Given the description of an element on the screen output the (x, y) to click on. 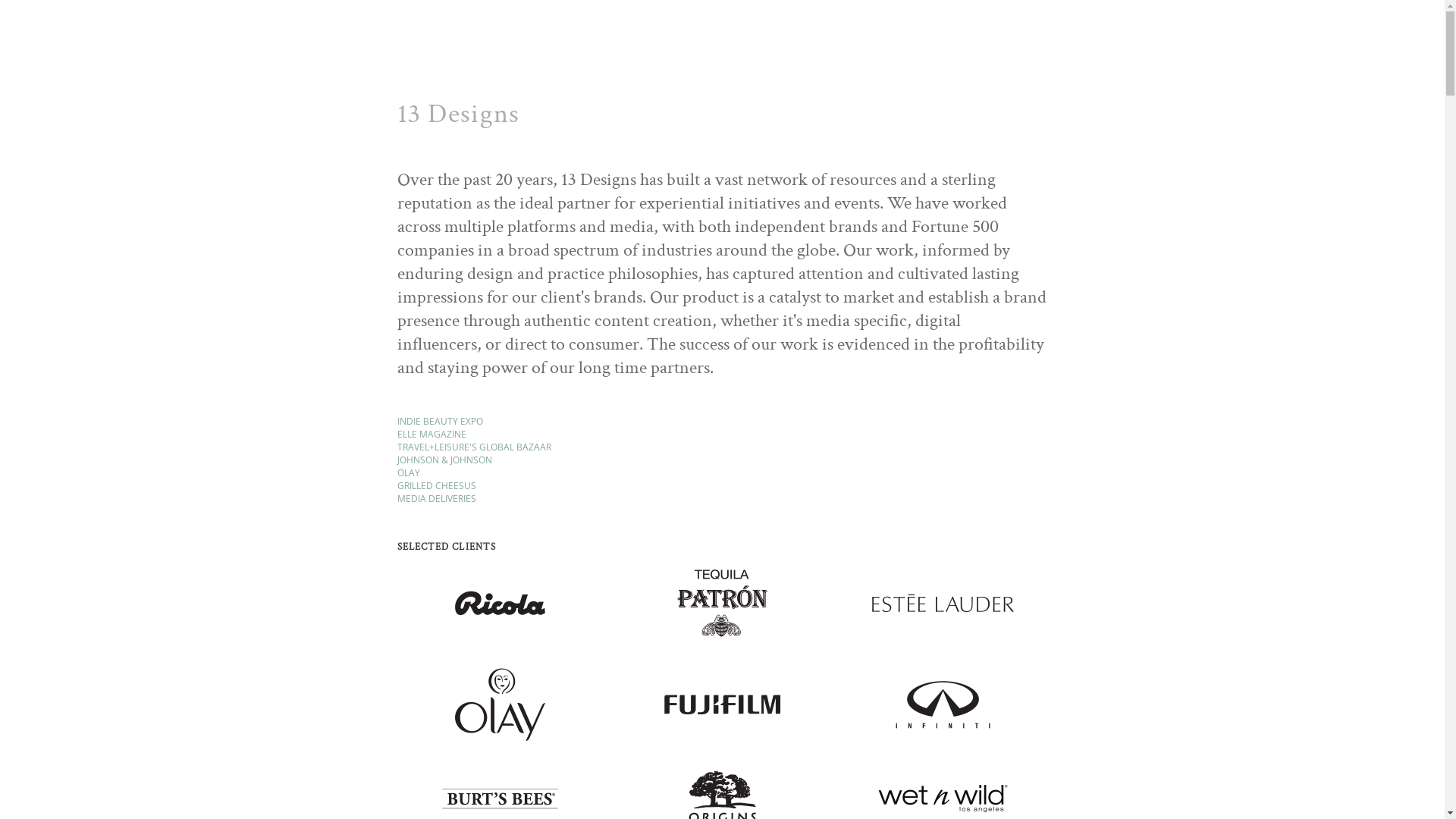
MEDIA DELIVERIES Element type: text (436, 498)
JOHNSON & JOHNSON Element type: text (444, 459)
ELLE MAGAZINE Element type: text (431, 433)
GRILLED CHEESUS Element type: text (436, 485)
INDIE BEAUTY EXPO Element type: text (440, 420)
OLAY Element type: text (408, 472)
TRAVEL+LEISURE'S GLOBAL BAZAAR Element type: text (474, 446)
